Given the description of an element on the screen output the (x, y) to click on. 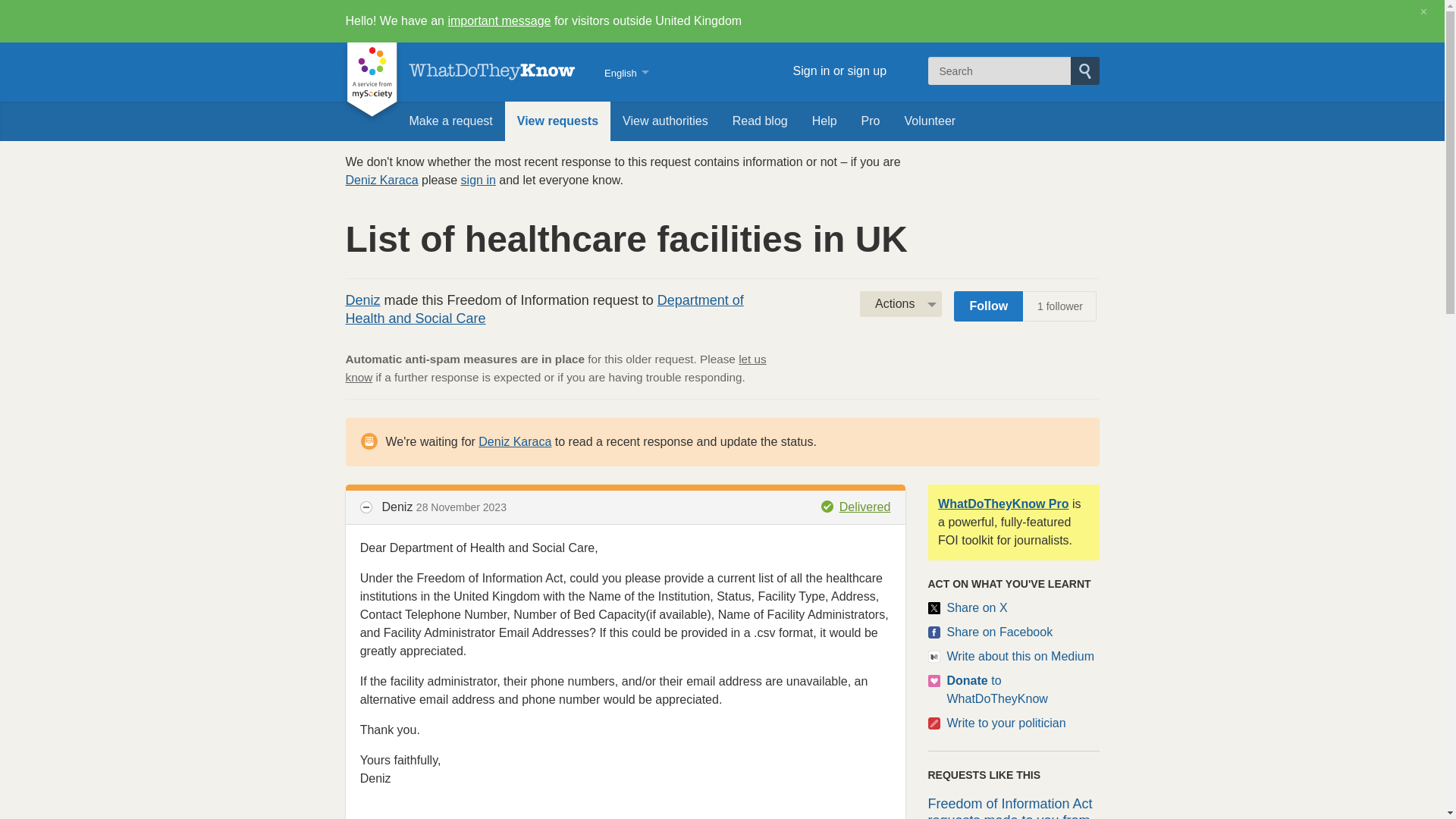
WhatDoTheyKnow (491, 72)
Submit Search (1084, 70)
Deniz Karaca (382, 179)
Follow (988, 306)
sign in (478, 179)
Actions (901, 303)
Pro (870, 120)
Deniz (363, 299)
type your search term here (999, 70)
28 November 2023 (461, 507)
